Given the description of an element on the screen output the (x, y) to click on. 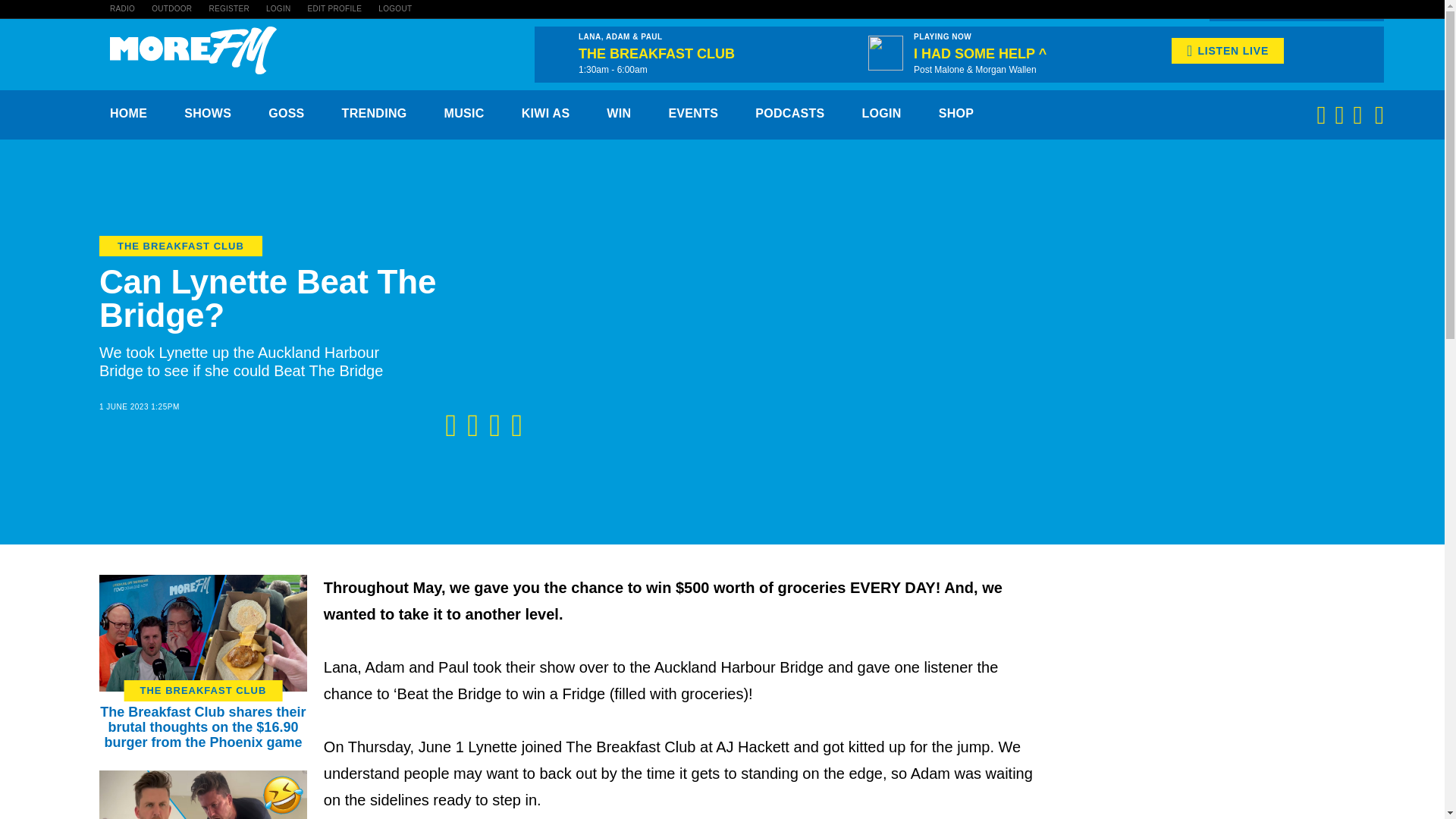
HOME (128, 113)
MUSIC (464, 113)
GOSS (285, 113)
THE BREAKFAST CLUB (202, 690)
PODCASTS (789, 113)
LOGOUT (395, 8)
OUTDOOR (171, 8)
LOGIN (278, 8)
REGISTER (228, 8)
TRENDING (374, 113)
